Given the description of an element on the screen output the (x, y) to click on. 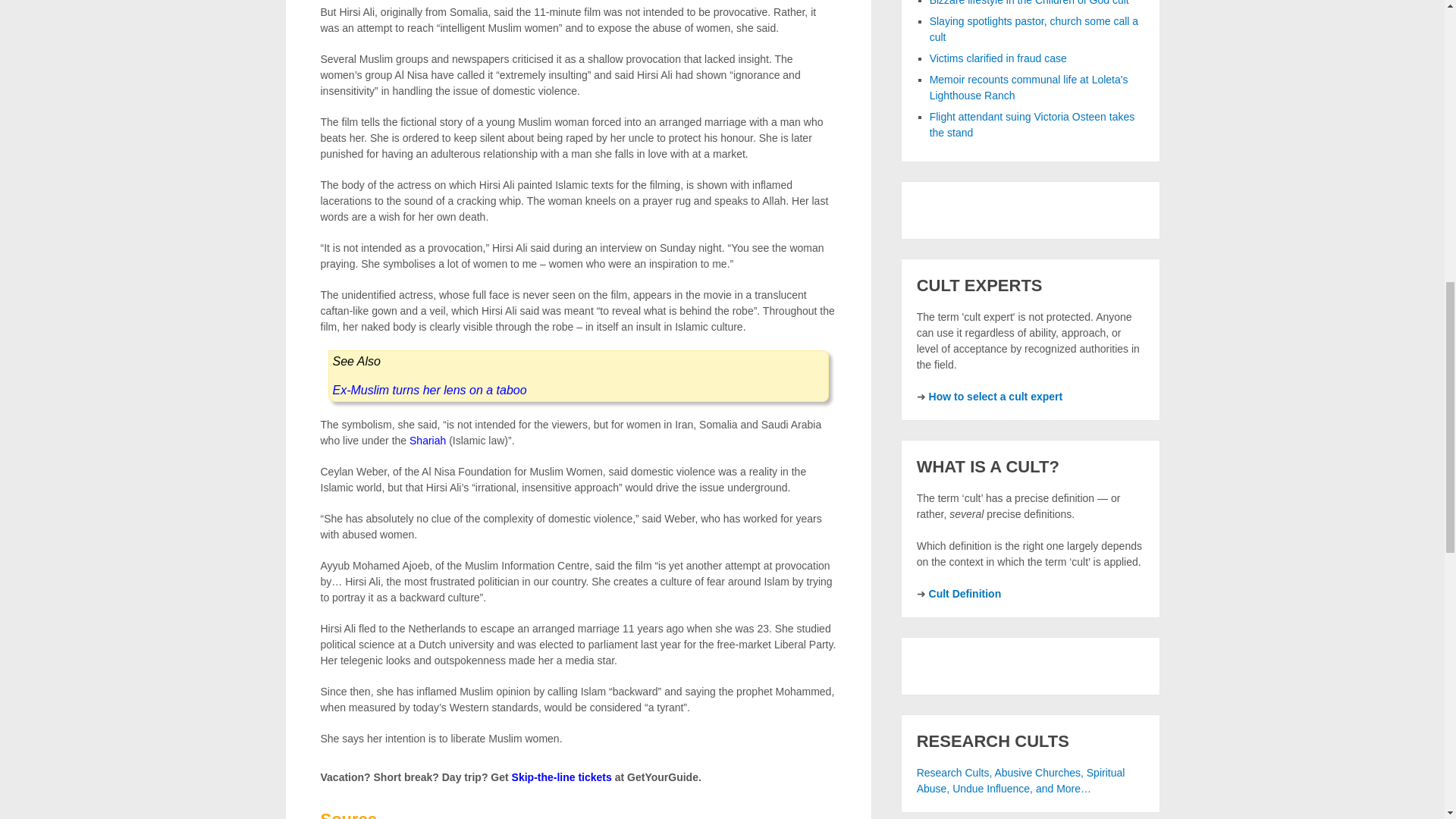
Memoir recounts communal life at Loleta's Lighthouse Ranch (1029, 87)
Shariah (427, 440)
Flight attendant suing Victoria Osteen takes the stand (1032, 124)
Skip-the-line tickets (561, 776)
Slaying spotlights pastor, church some call a cult (1034, 29)
Cult Definition (964, 593)
Bizzare lifestyle in the Children of God cult (1029, 2)
How to select a cult expert (995, 396)
Ex-Muslim turns her lens on a taboo (428, 390)
Victims clarified in fraud case (998, 58)
